Given the description of an element on the screen output the (x, y) to click on. 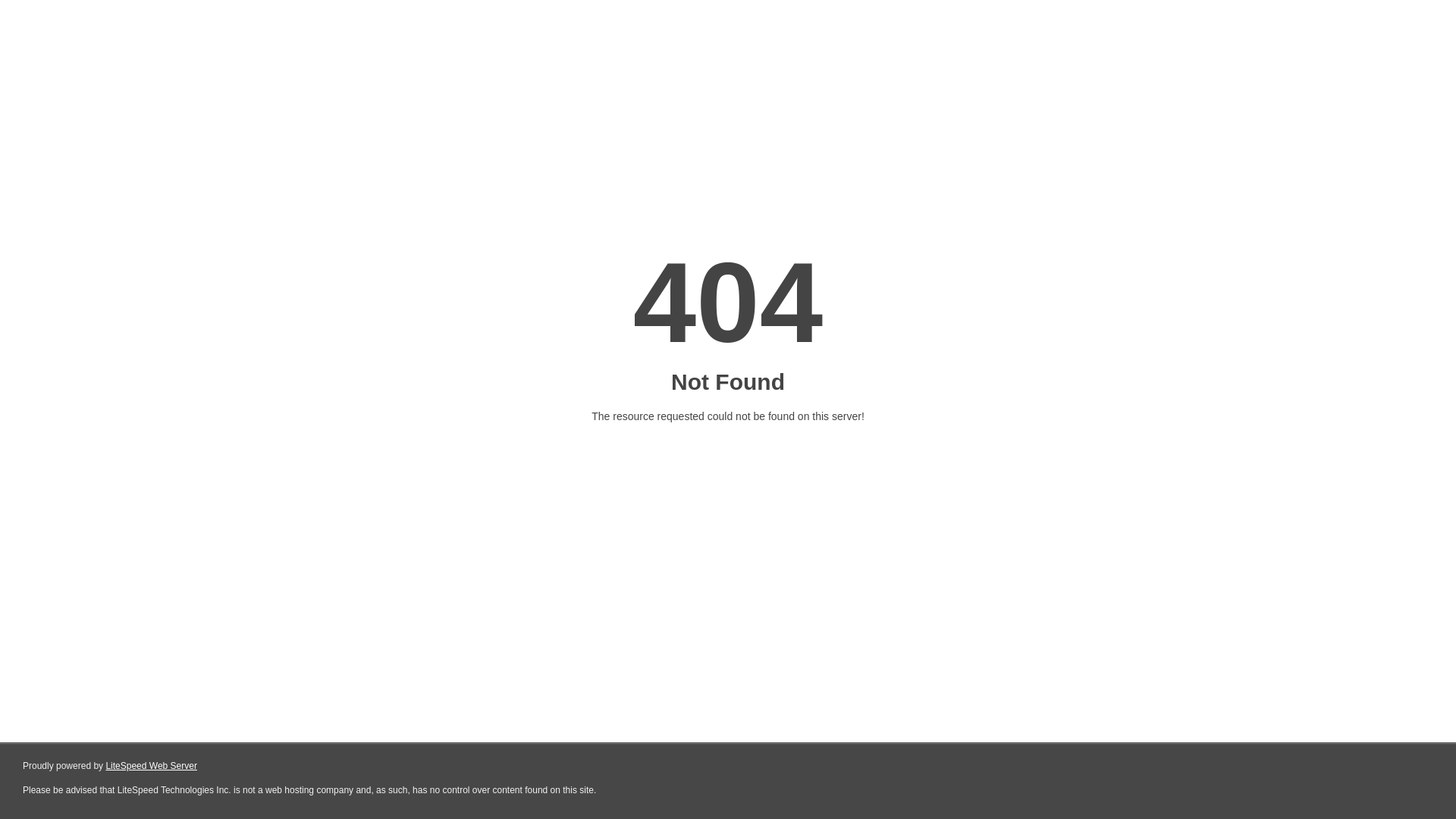
LiteSpeed Web Server Element type: text (151, 765)
